Given the description of an element on the screen output the (x, y) to click on. 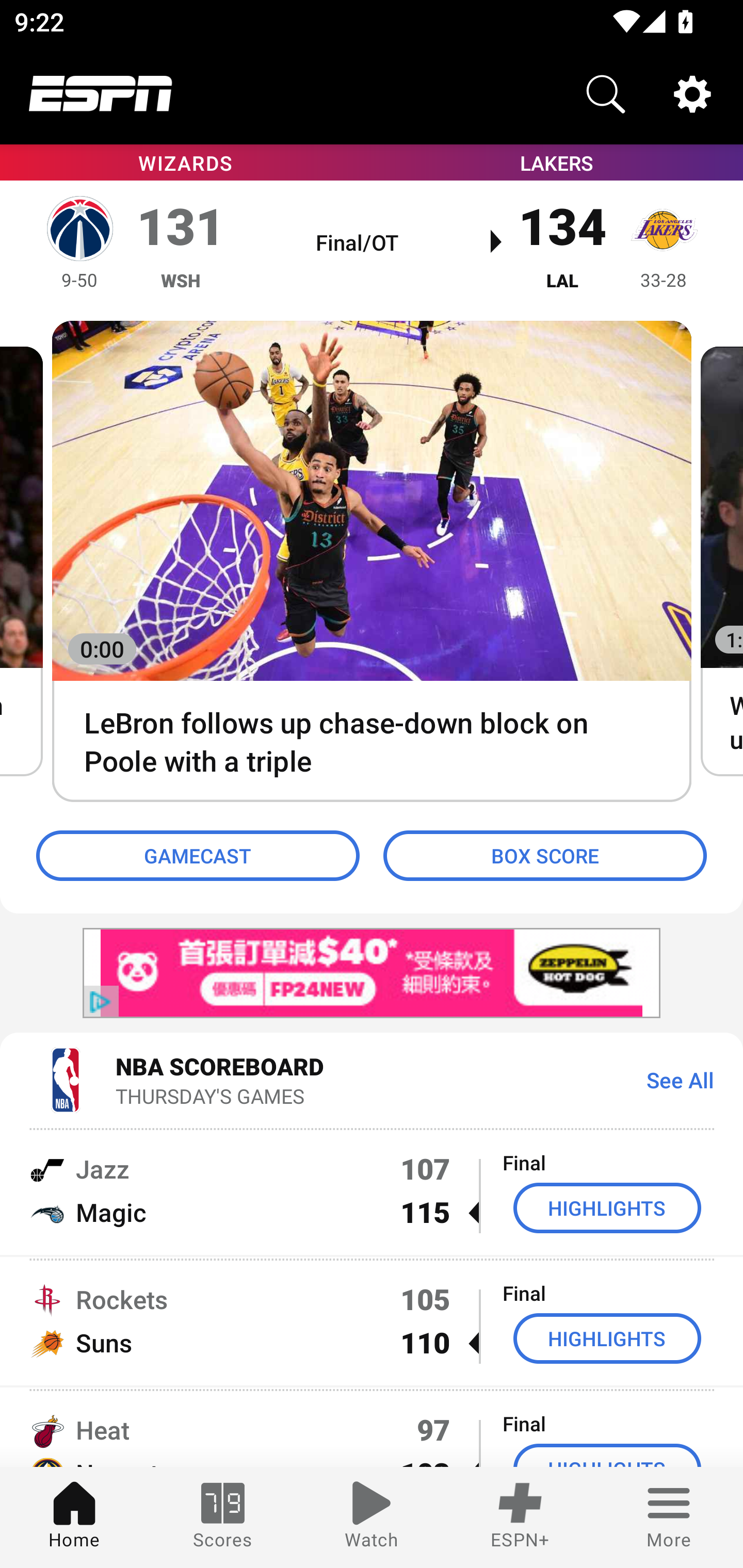
Search (605, 93)
Settings (692, 93)
GAMECAST (197, 856)
BOX SCORE (544, 856)
a79168398e6a07375931 (371, 973)
NBA SCOREBOARD THURSDAY'S GAMES See All (371, 1079)
Jazz 107 Final Magic 115  HIGHLIGHTS (371, 1189)
HIGHLIGHTS (607, 1208)
Rockets 105 Final Suns 110  HIGHLIGHTS (371, 1321)
HIGHLIGHTS (607, 1338)
Heat 97 Final Nuggets 103  HIGHLIGHTS (371, 1427)
Scores (222, 1517)
Watch (371, 1517)
ESPN+ (519, 1517)
More (668, 1517)
